Given the description of an element on the screen output the (x, y) to click on. 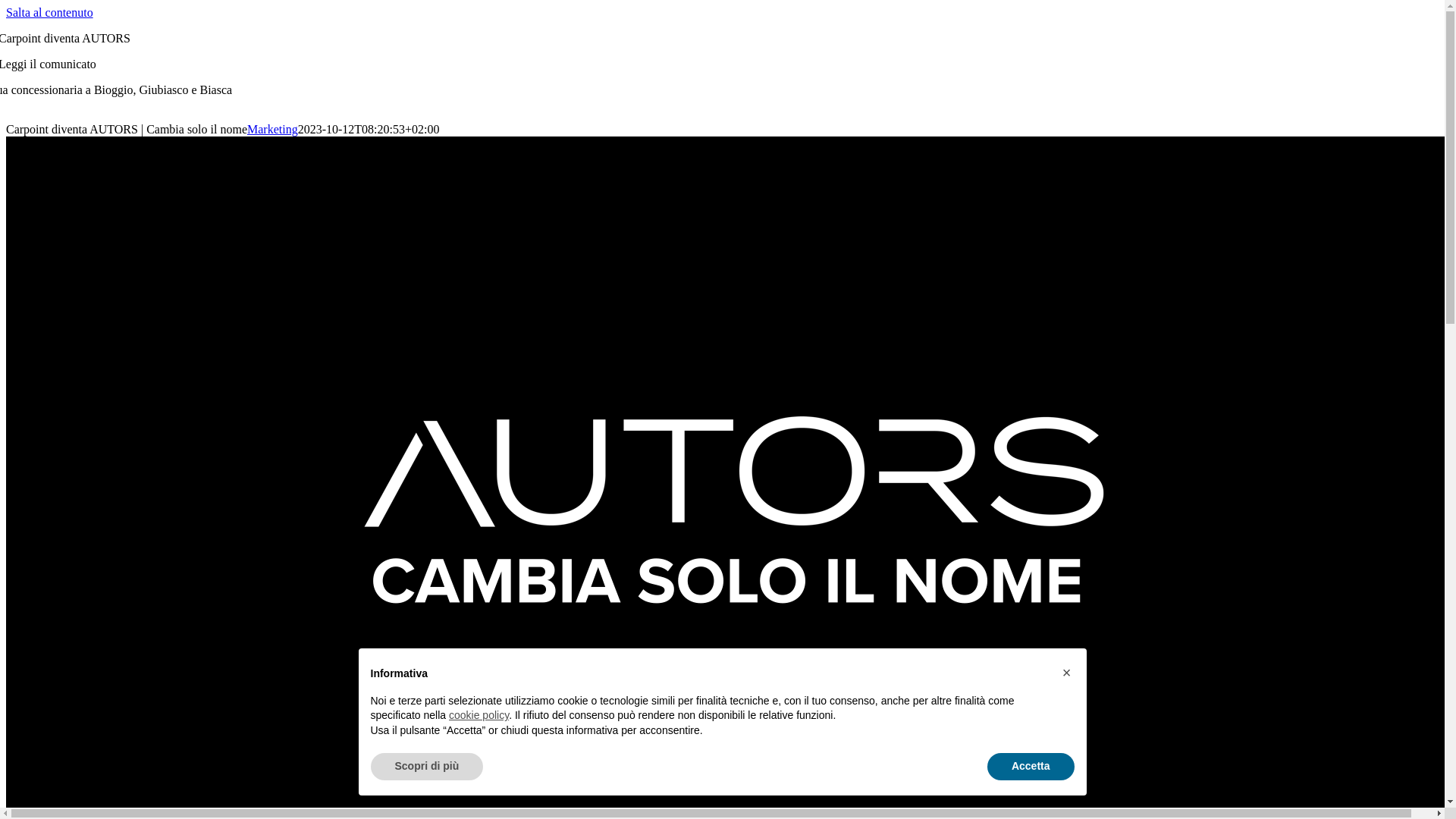
cookie policy Element type: text (478, 715)
Marketing Element type: text (272, 128)
Salta al contenuto Element type: text (49, 12)
Accetta Element type: text (1030, 766)
